Given the description of an element on the screen output the (x, y) to click on. 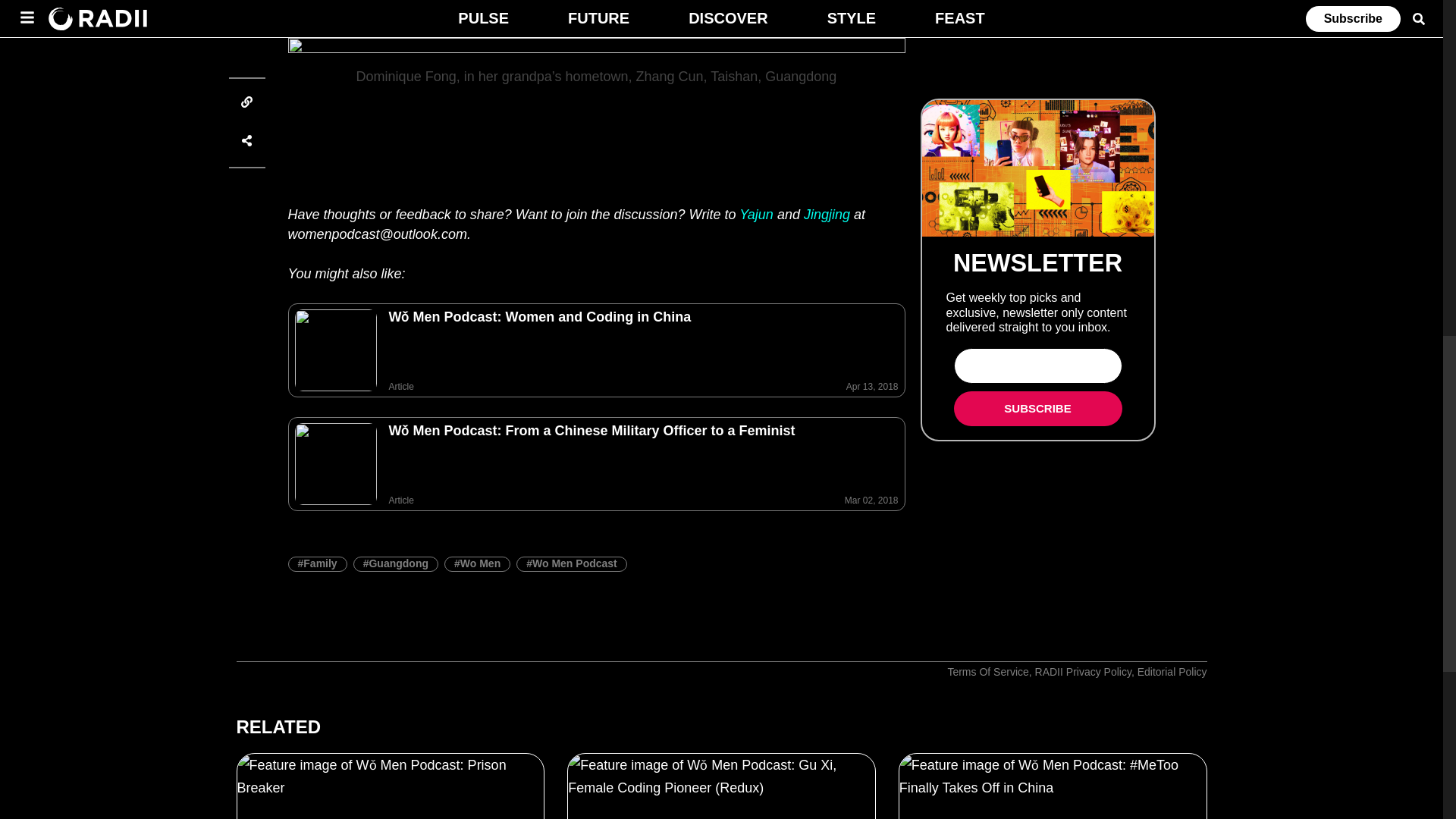
Yajun (756, 214)
Guangdong (395, 563)
Wo Men (477, 563)
Jingjing (826, 214)
Family (317, 563)
Wo Men Podcast (571, 563)
